Given the description of an element on the screen output the (x, y) to click on. 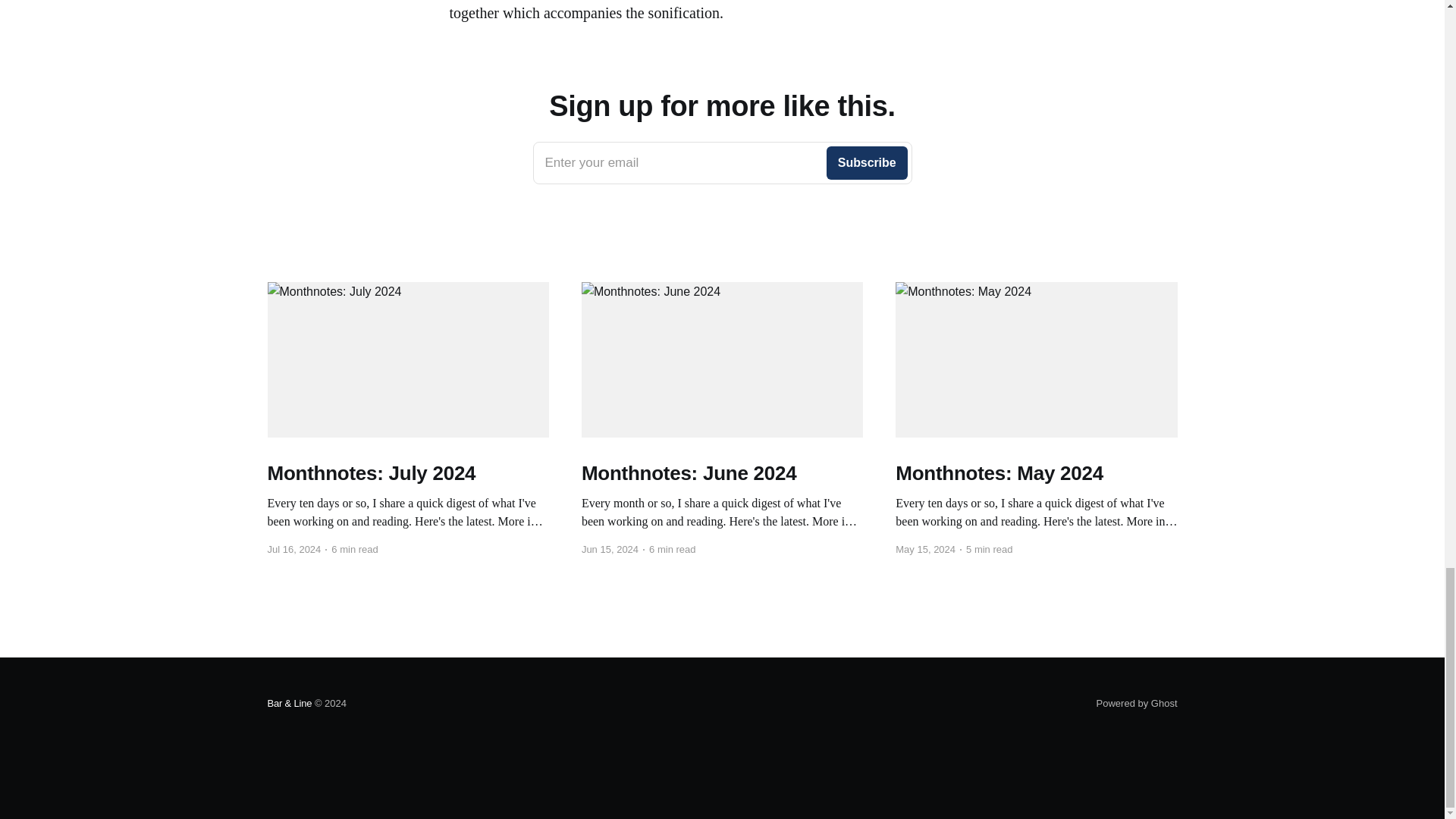
Powered by Ghost (721, 162)
